Given the description of an element on the screen output the (x, y) to click on. 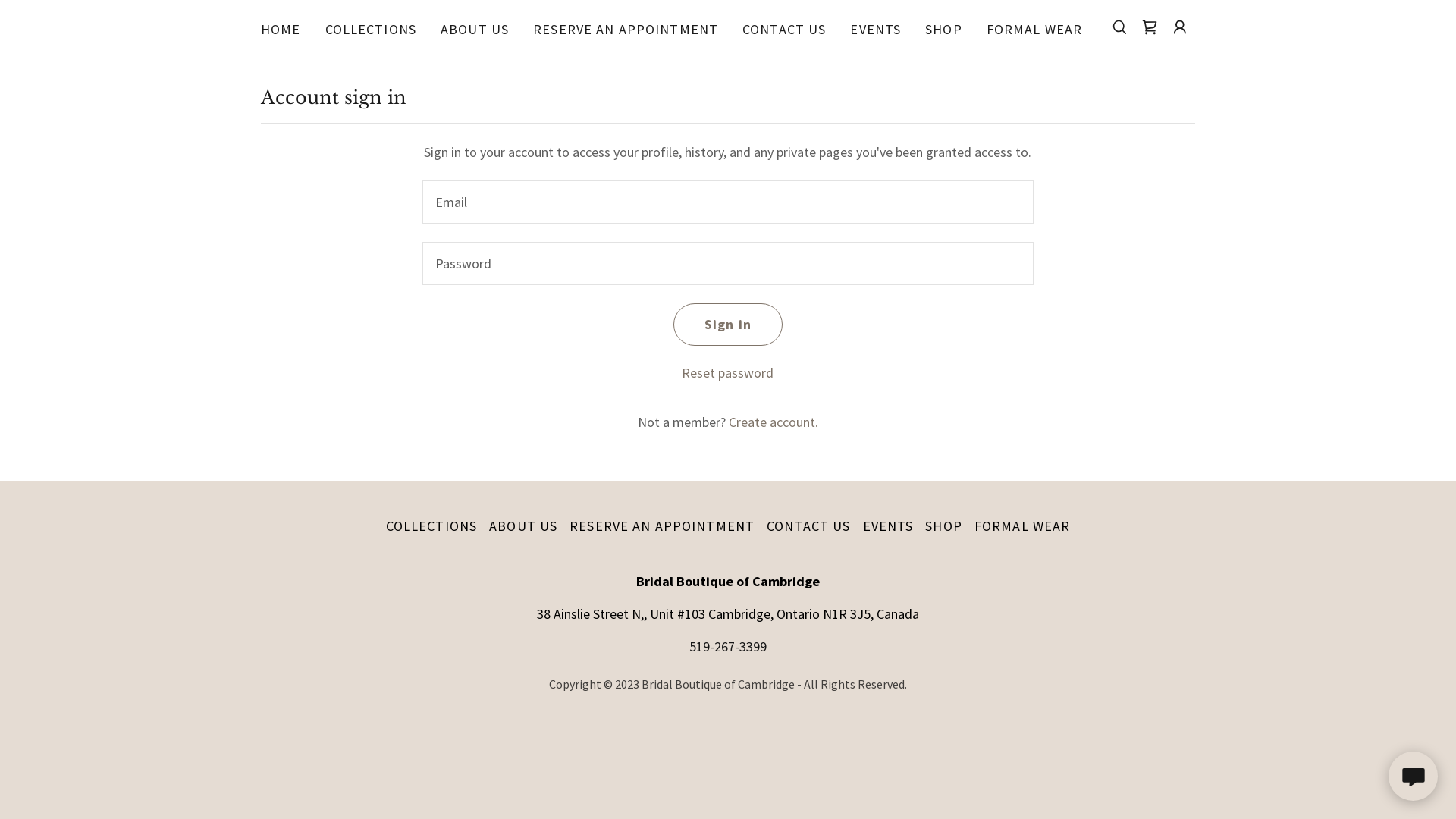
SHOP Element type: text (943, 28)
ABOUT US Element type: text (523, 525)
Reset password Element type: text (727, 372)
519-267-3399 Element type: text (727, 646)
SHOP Element type: text (943, 525)
RESERVE AN APPOINTMENT Element type: text (625, 28)
EVENTS Element type: text (875, 28)
COLLECTIONS Element type: text (370, 28)
EVENTS Element type: text (887, 525)
ABOUT US Element type: text (474, 28)
CONTACT US Element type: text (808, 525)
Sign in Element type: text (727, 324)
FORMAL WEAR Element type: text (1022, 525)
FORMAL WEAR Element type: text (1034, 28)
CONTACT US Element type: text (783, 28)
RESERVE AN APPOINTMENT Element type: text (661, 525)
Create account. Element type: text (773, 421)
COLLECTIONS Element type: text (431, 525)
HOME Element type: text (280, 28)
